Given the description of an element on the screen output the (x, y) to click on. 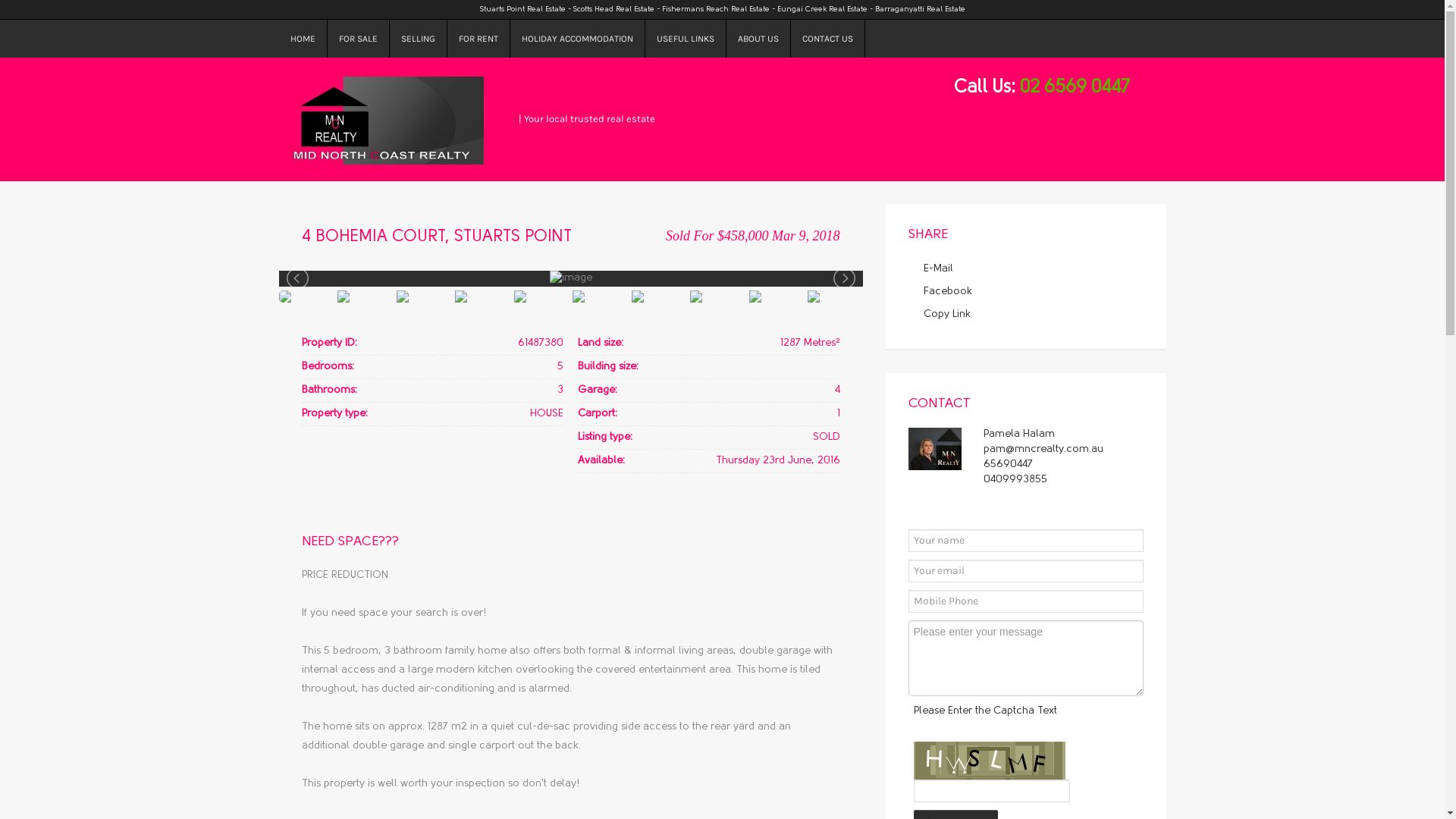
E-Mail Element type: text (938, 268)
02 6569 0447 Element type: text (1074, 87)
USEFUL LINKS Element type: text (684, 38)
Copy Link Element type: text (946, 314)
* Please provide valid phone number Element type: hover (1025, 600)
CONTACT US Element type: text (827, 38)
0409993855 Element type: text (1014, 479)
SELLING Element type: text (418, 38)
HOME Element type: text (303, 38)
65690447 Element type: text (1007, 464)
Facebook Element type: text (947, 291)
HOLIDAY ACCOMMODATION Element type: text (576, 38)
FOR RENT Element type: text (478, 38)
ABOUT US Element type: text (758, 38)
Pamela Halam Element type: text (1018, 433)
pam@mncrealty.com.au Element type: text (1042, 449)
FOR SALE Element type: text (358, 38)
